Given the description of an element on the screen output the (x, y) to click on. 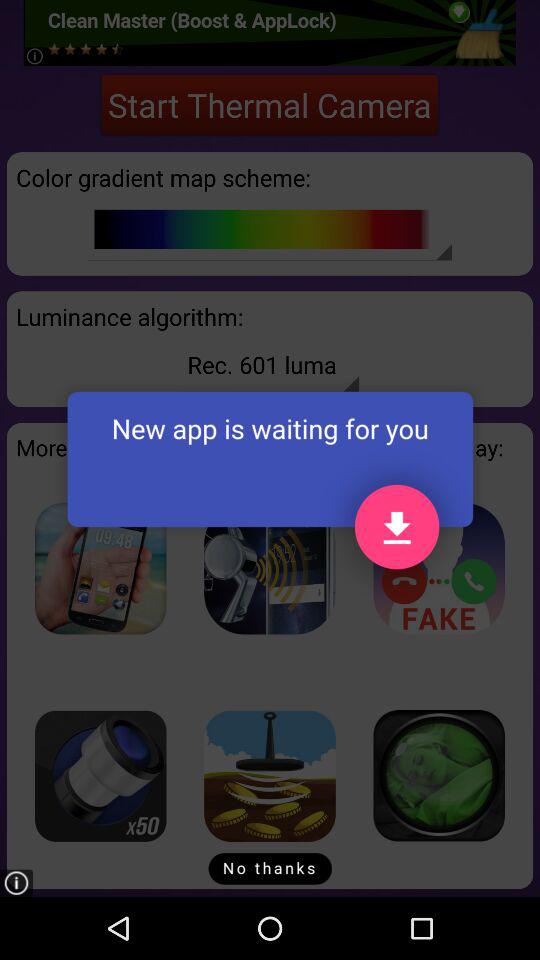
download app (439, 568)
